Given the description of an element on the screen output the (x, y) to click on. 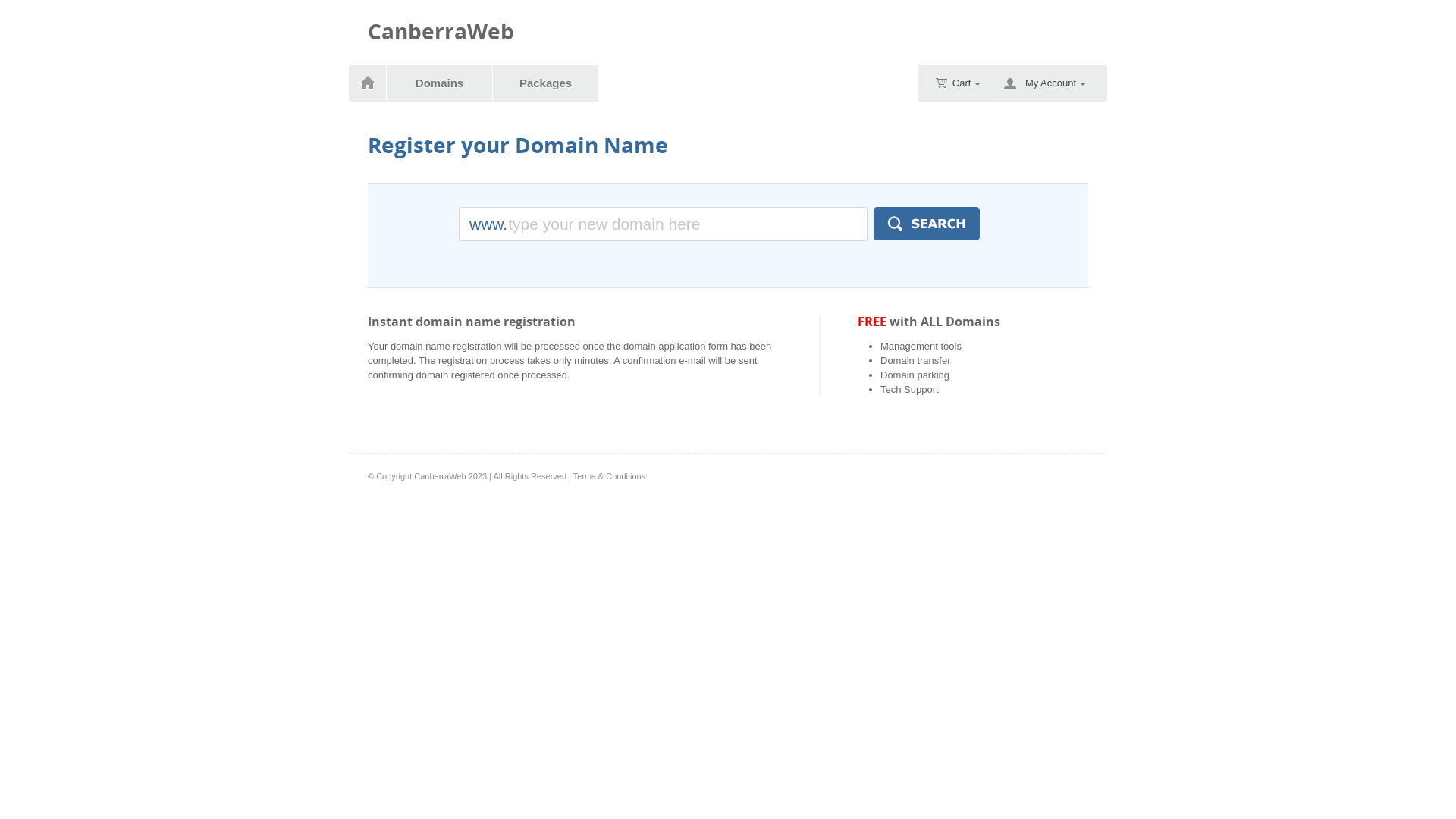
Cart Element type: text (957, 82)
CanberraWeb Element type: text (440, 31)
Home Element type: text (366, 83)
My Account Element type: text (1055, 83)
Terms & Conditions Element type: text (609, 475)
Search Element type: text (926, 223)
Domains Element type: text (439, 83)
Packages Element type: text (545, 83)
